Given the description of an element on the screen output the (x, y) to click on. 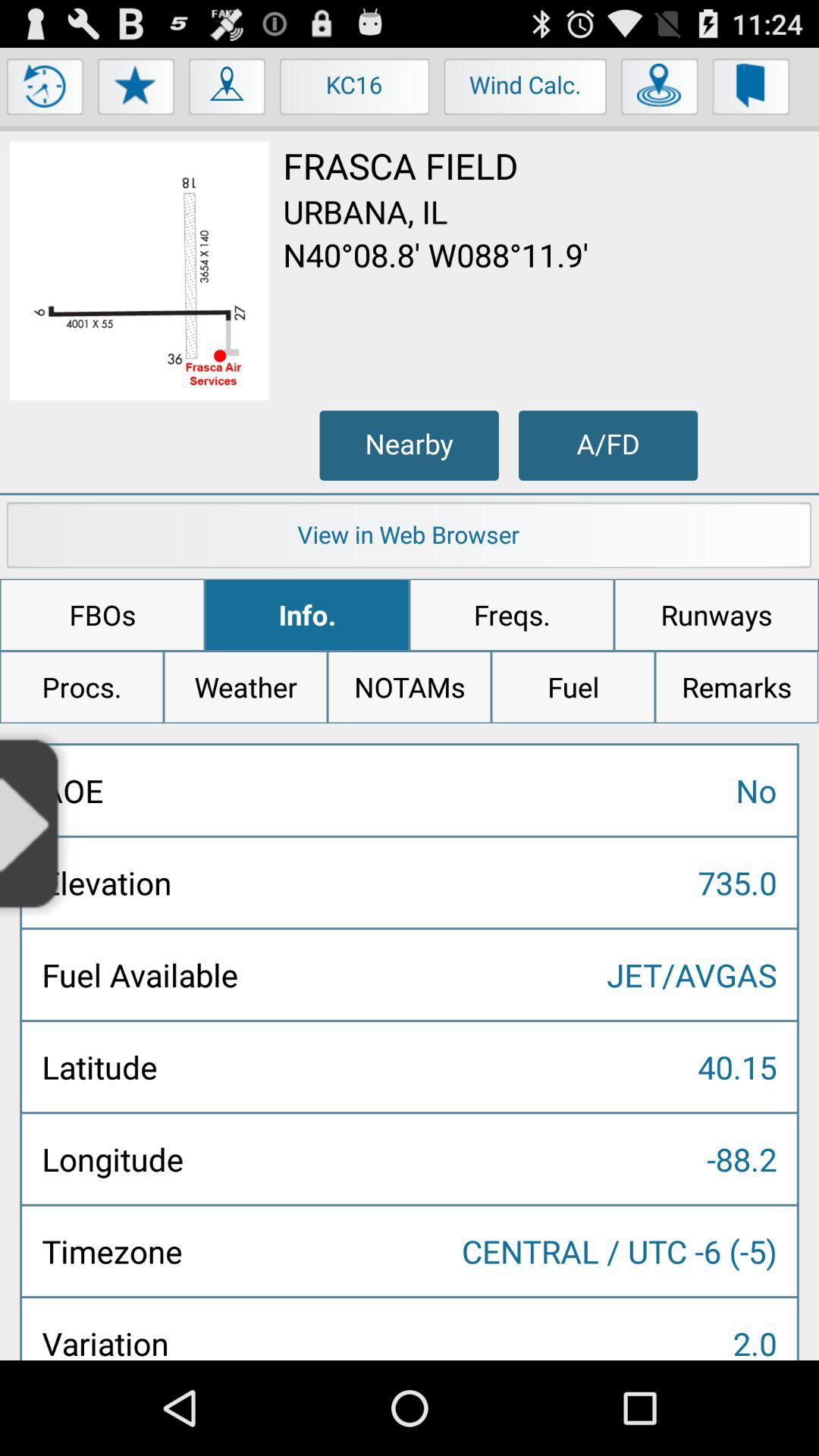
choose the icon below procs. (36, 822)
